Given the description of an element on the screen output the (x, y) to click on. 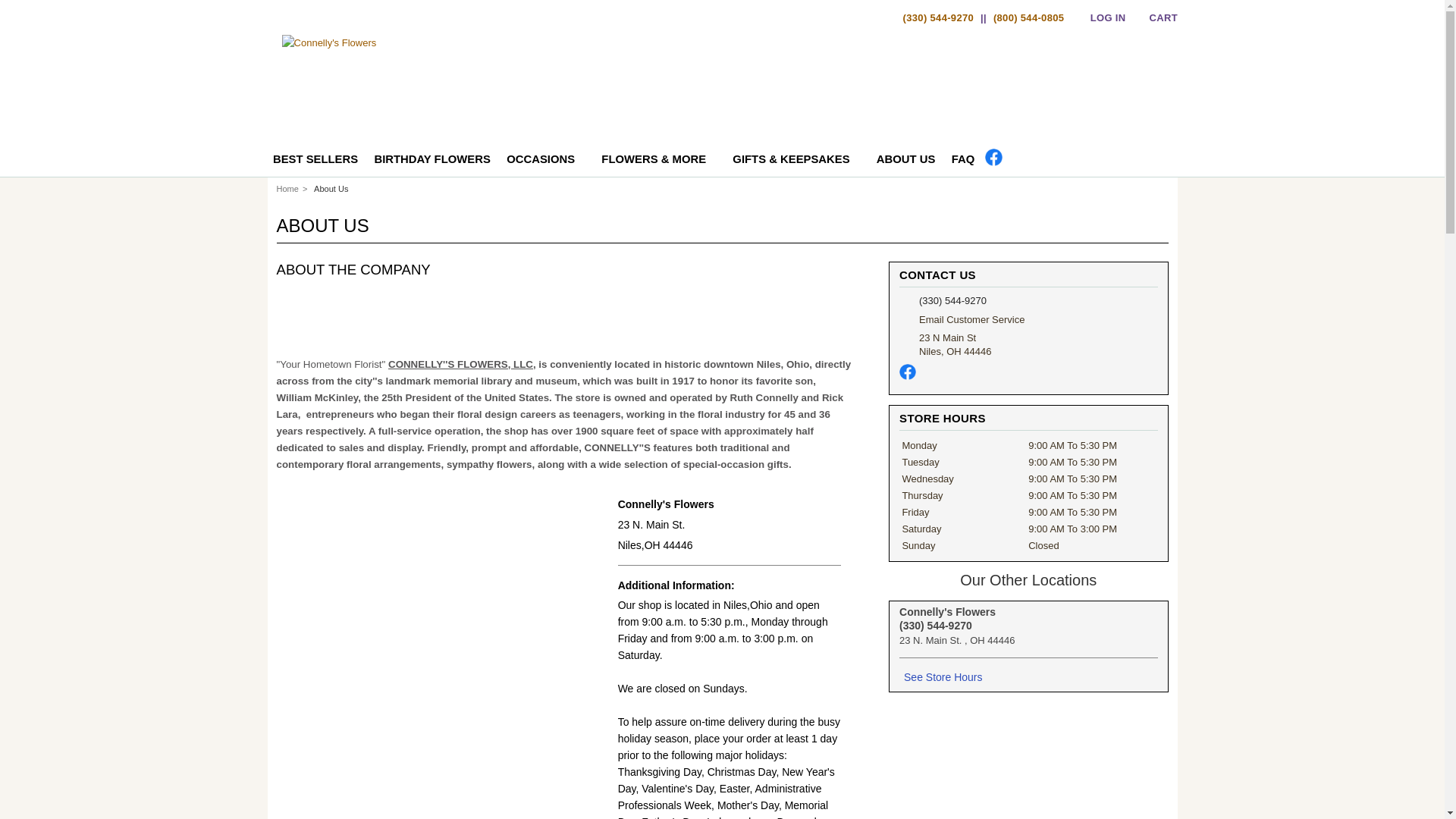
CART (1156, 23)
LOG IN (1104, 21)
OCCASIONS (545, 161)
BIRTHDAY FLOWERS (432, 161)
BEST SELLERS (314, 161)
map of our area (441, 647)
log In (1104, 21)
